Given the description of an element on the screen output the (x, y) to click on. 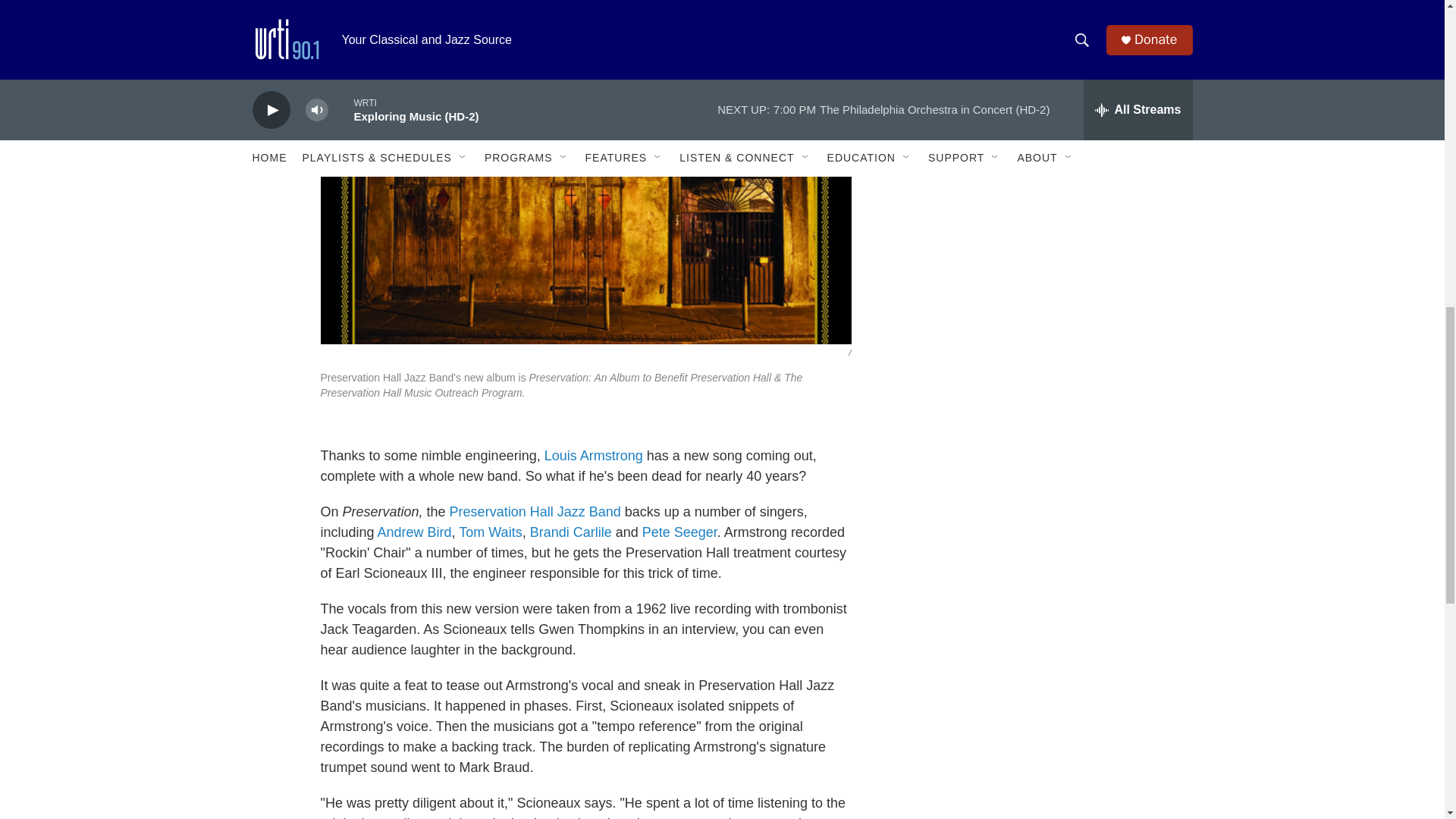
3rd party ad content (1062, 585)
3rd party ad content (1062, 175)
3rd party ad content (1062, 380)
